Given the description of an element on the screen output the (x, y) to click on. 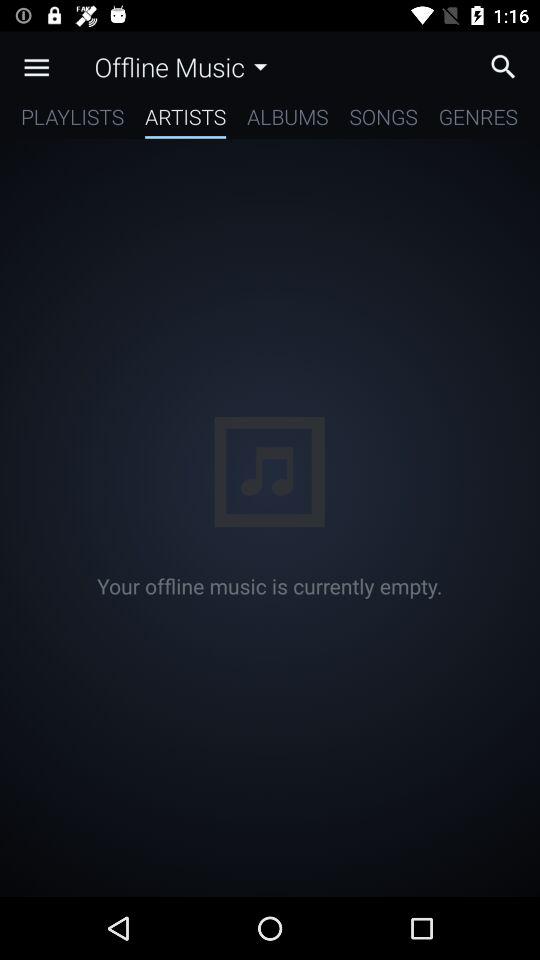
turn on the icon next to offline music (36, 67)
